Given the description of an element on the screen output the (x, y) to click on. 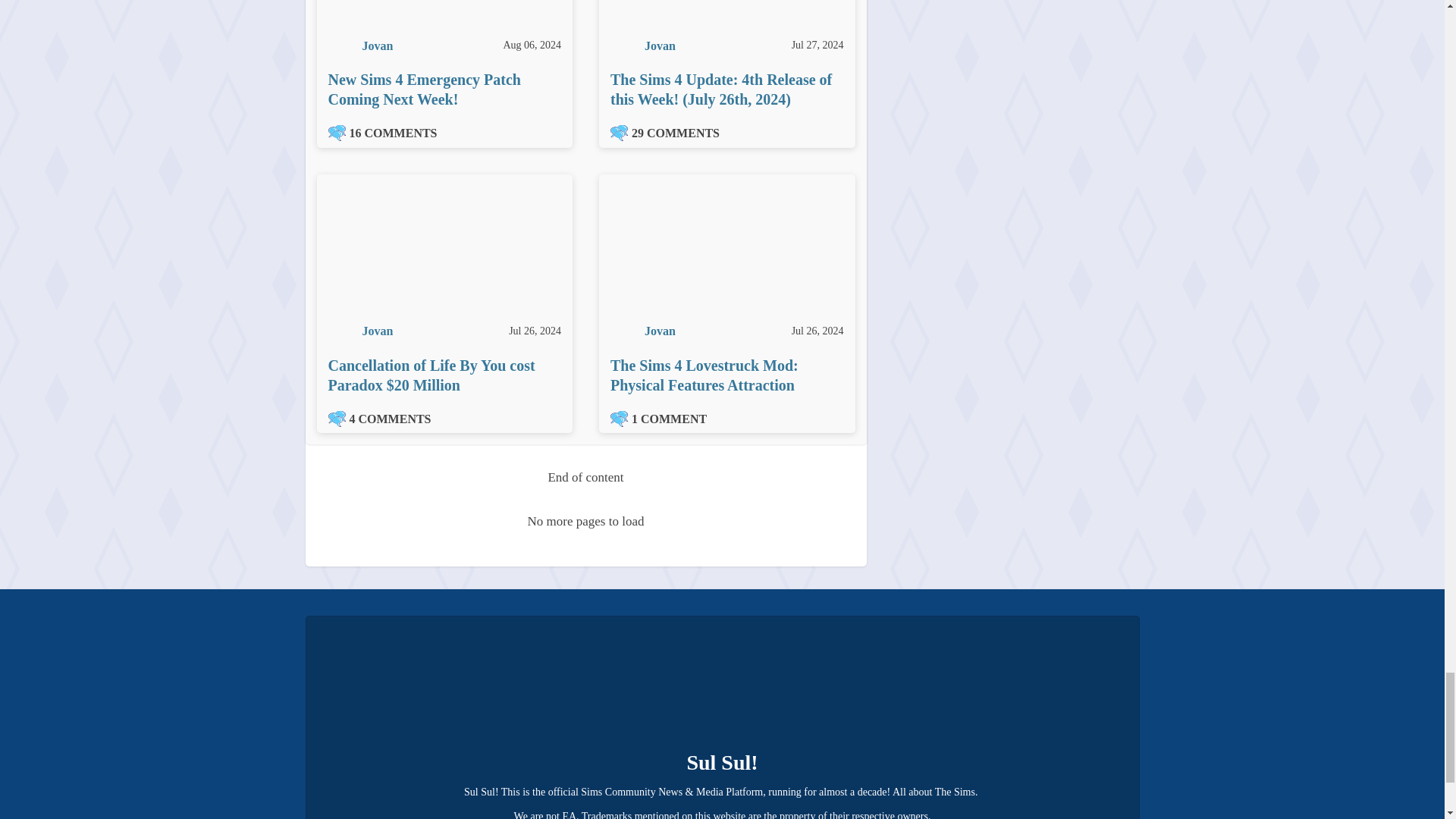
No more pages to load (586, 521)
